Given the description of an element on the screen output the (x, y) to click on. 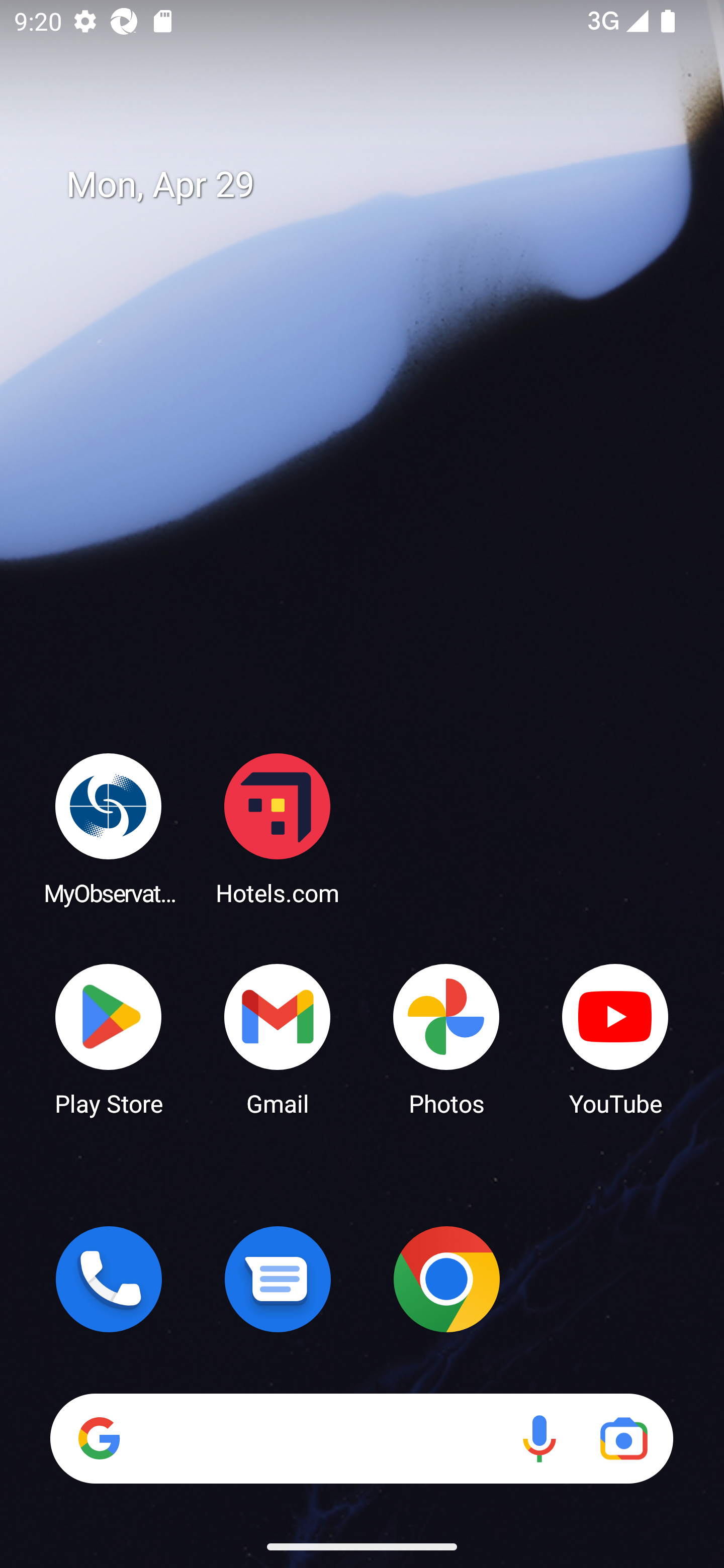
Mon, Apr 29 (375, 184)
MyObservatory (108, 828)
Hotels.com (277, 828)
Play Store (108, 1038)
Gmail (277, 1038)
Photos (445, 1038)
YouTube (615, 1038)
Phone (108, 1279)
Messages (277, 1279)
Chrome (446, 1279)
Search Voice search Google Lens (361, 1438)
Voice search (539, 1438)
Google Lens (623, 1438)
